Given the description of an element on the screen output the (x, y) to click on. 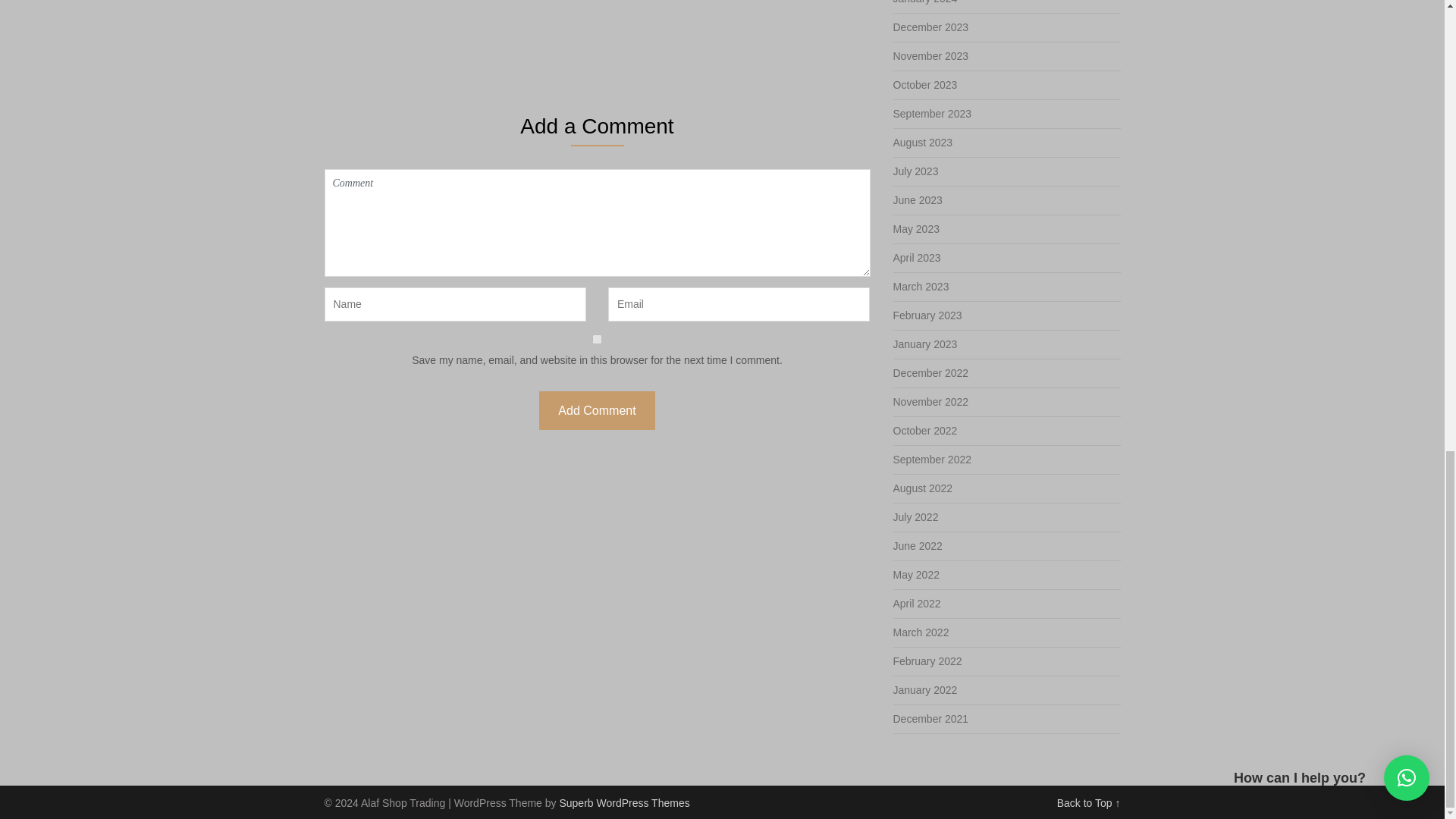
November 2023 (931, 55)
January 2024 (925, 2)
December 2023 (931, 27)
Add Comment (595, 410)
yes (597, 338)
October 2023 (925, 84)
September 2023 (932, 113)
July 2023 (916, 171)
June 2023 (917, 200)
Add Comment (595, 410)
August 2023 (923, 142)
